Given the description of an element on the screen output the (x, y) to click on. 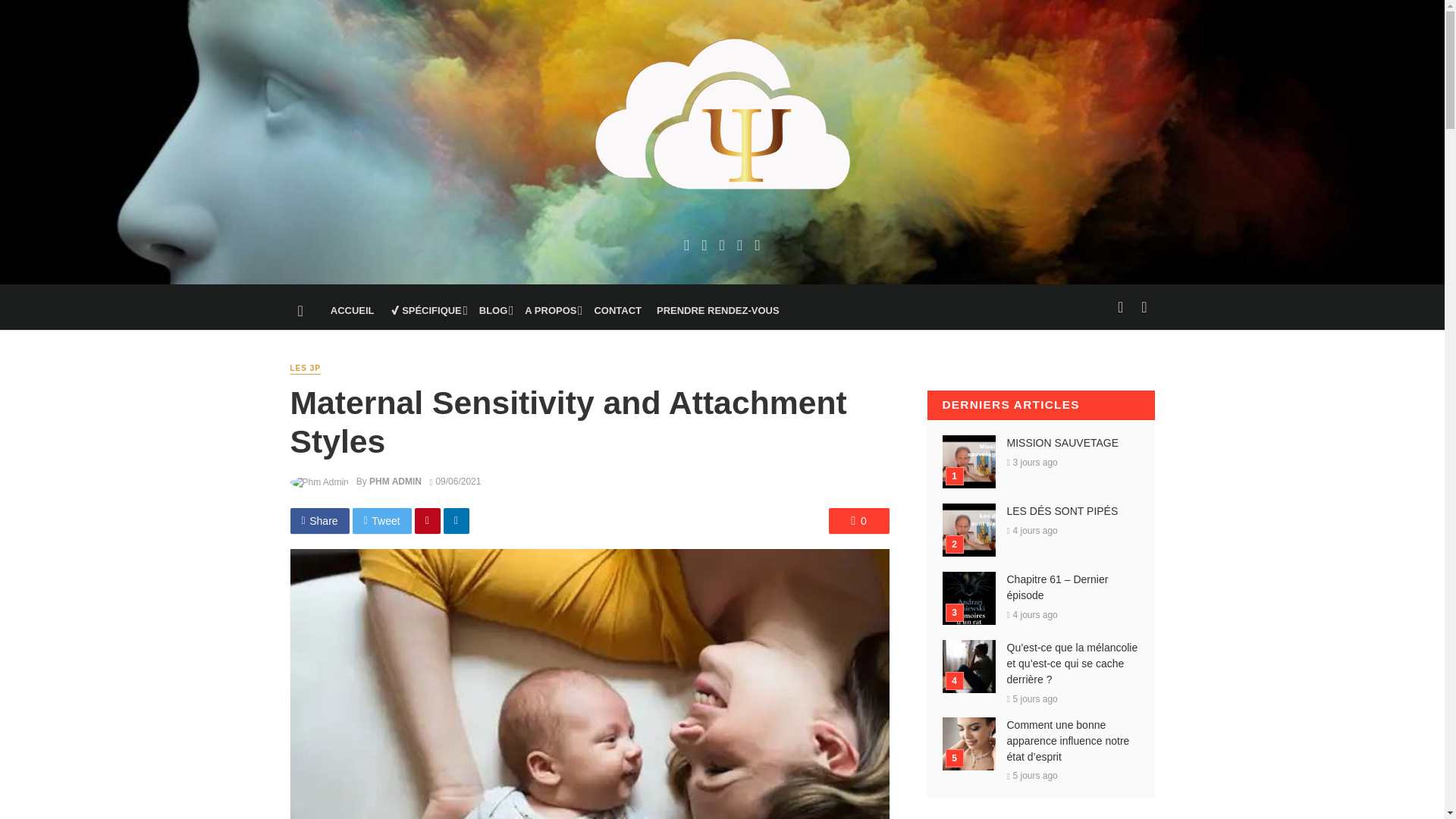
Share on Pinterest (427, 520)
CONTACT (617, 310)
Share on Facebook (319, 520)
Posts by Phm Admin (395, 480)
Tweet (382, 520)
Share on Linkedin (456, 520)
A PROPOS (551, 310)
PRENDRE RENDEZ-VOUS (718, 310)
Share on Twitter (382, 520)
PHM ADMIN (395, 480)
